Given the description of an element on the screen output the (x, y) to click on. 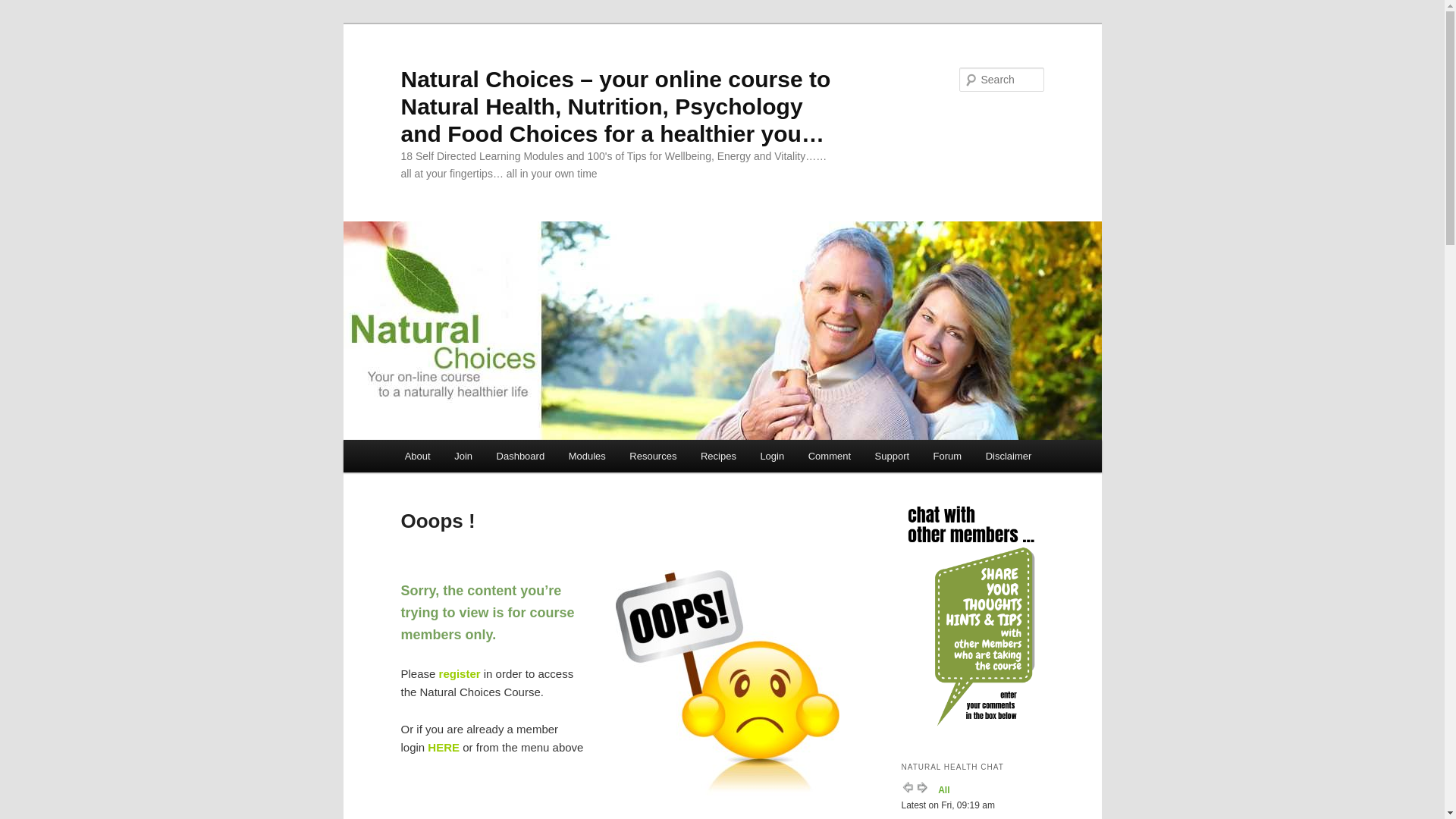
Dashboard Element type: text (520, 455)
HERE Element type: text (443, 746)
Resources Element type: text (653, 455)
Login Element type: text (772, 455)
register Element type: text (459, 673)
Comment Element type: text (829, 455)
Support Element type: text (891, 455)
Join Element type: text (462, 455)
All Element type: text (943, 789)
Recipes Element type: text (717, 455)
Search Element type: text (24, 8)
Disclaimer Element type: text (1008, 455)
  Element type: text (401, 784)
Forum Element type: text (947, 455)
Skip to primary content Element type: text (22, 22)
Modules Element type: text (587, 455)
About Element type: text (417, 455)
